Given the description of an element on the screen output the (x, y) to click on. 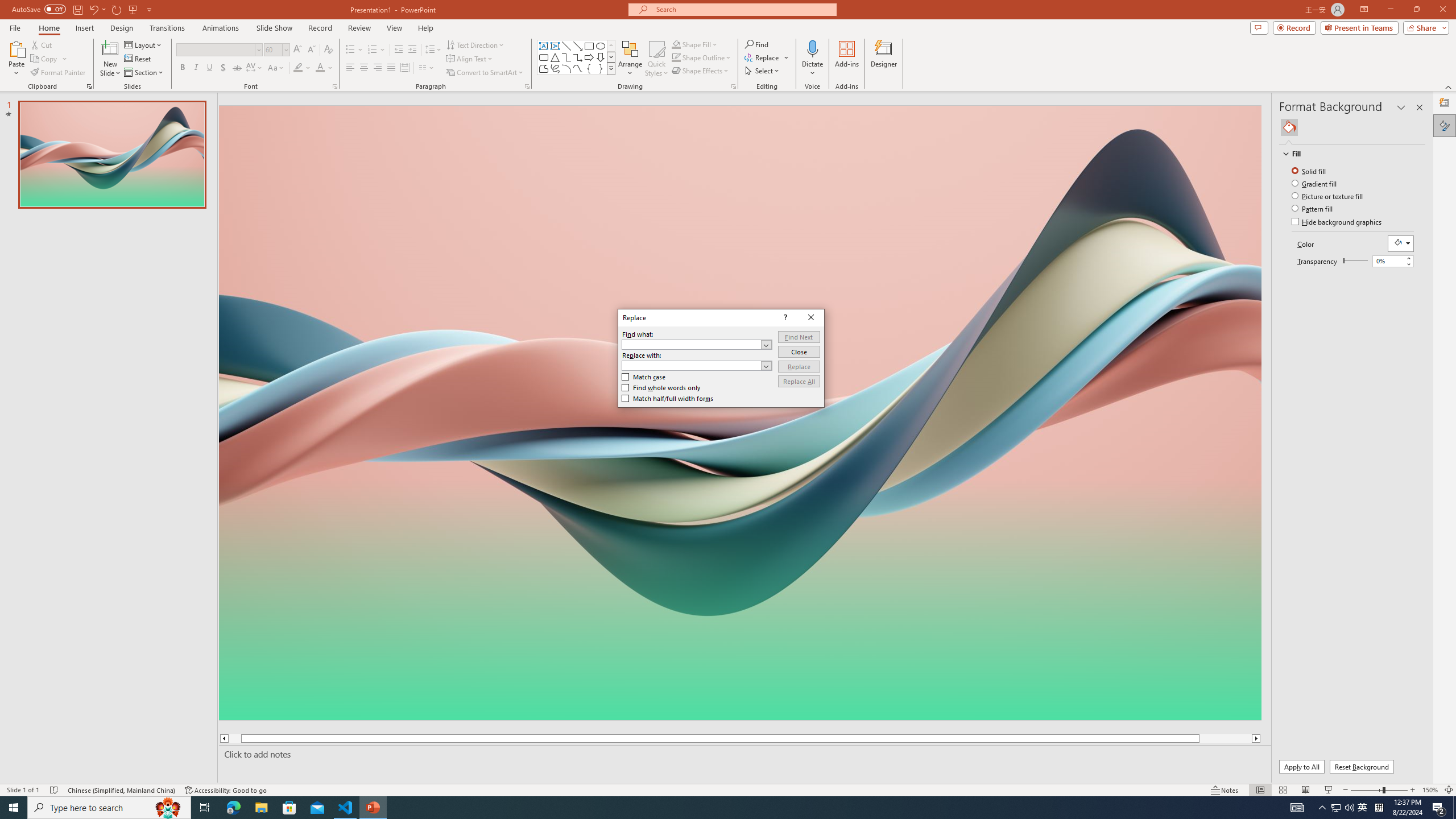
Shape Outline Blue, Accent 1 (675, 56)
Replace (799, 366)
Page right (1358, 260)
